Given the description of an element on the screen output the (x, y) to click on. 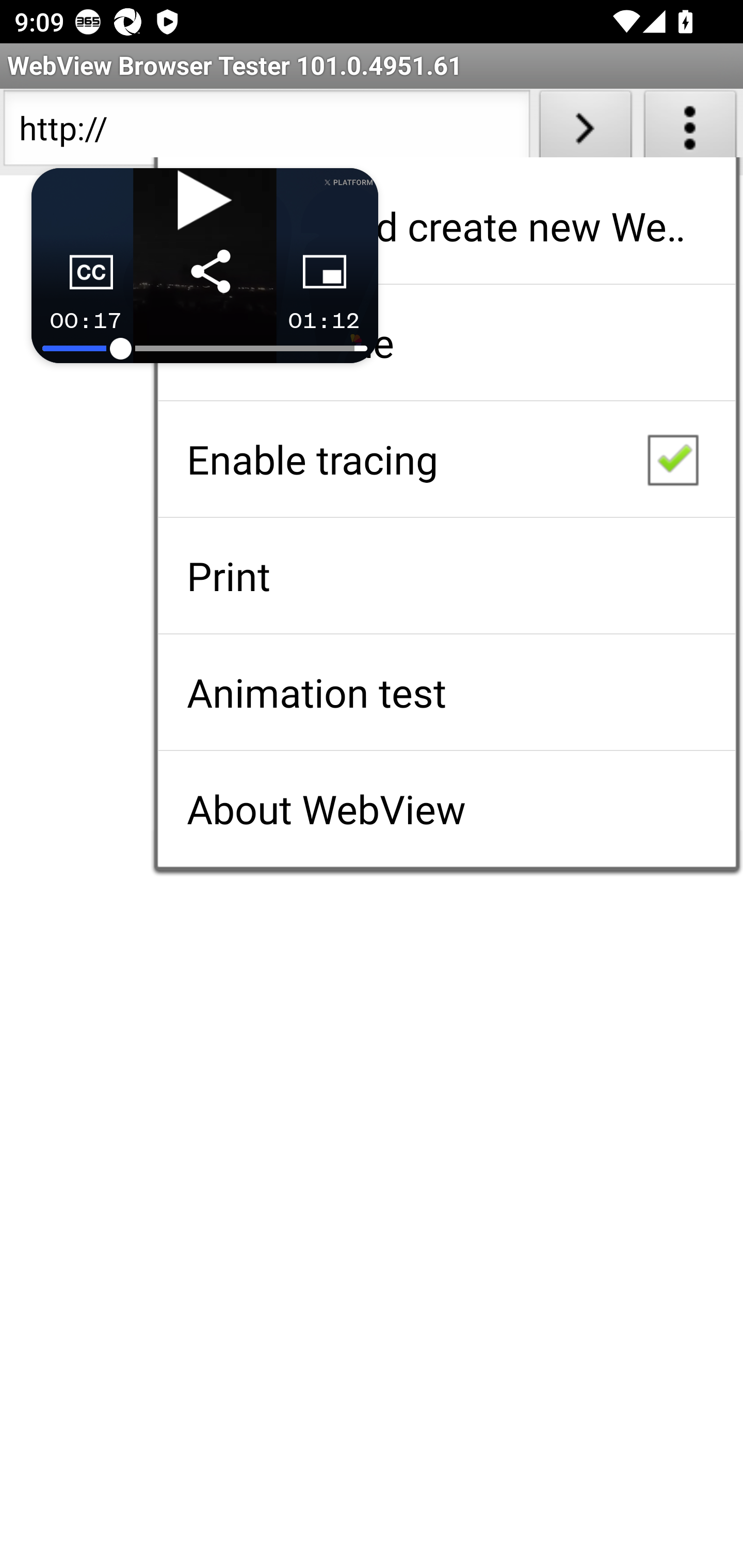
Destroy and create new WebView (446, 225)
Clear cache (446, 342)
Enable tracing (446, 459)
Print (446, 575)
Animation test (446, 692)
About WebView (446, 809)
